Given the description of an element on the screen output the (x, y) to click on. 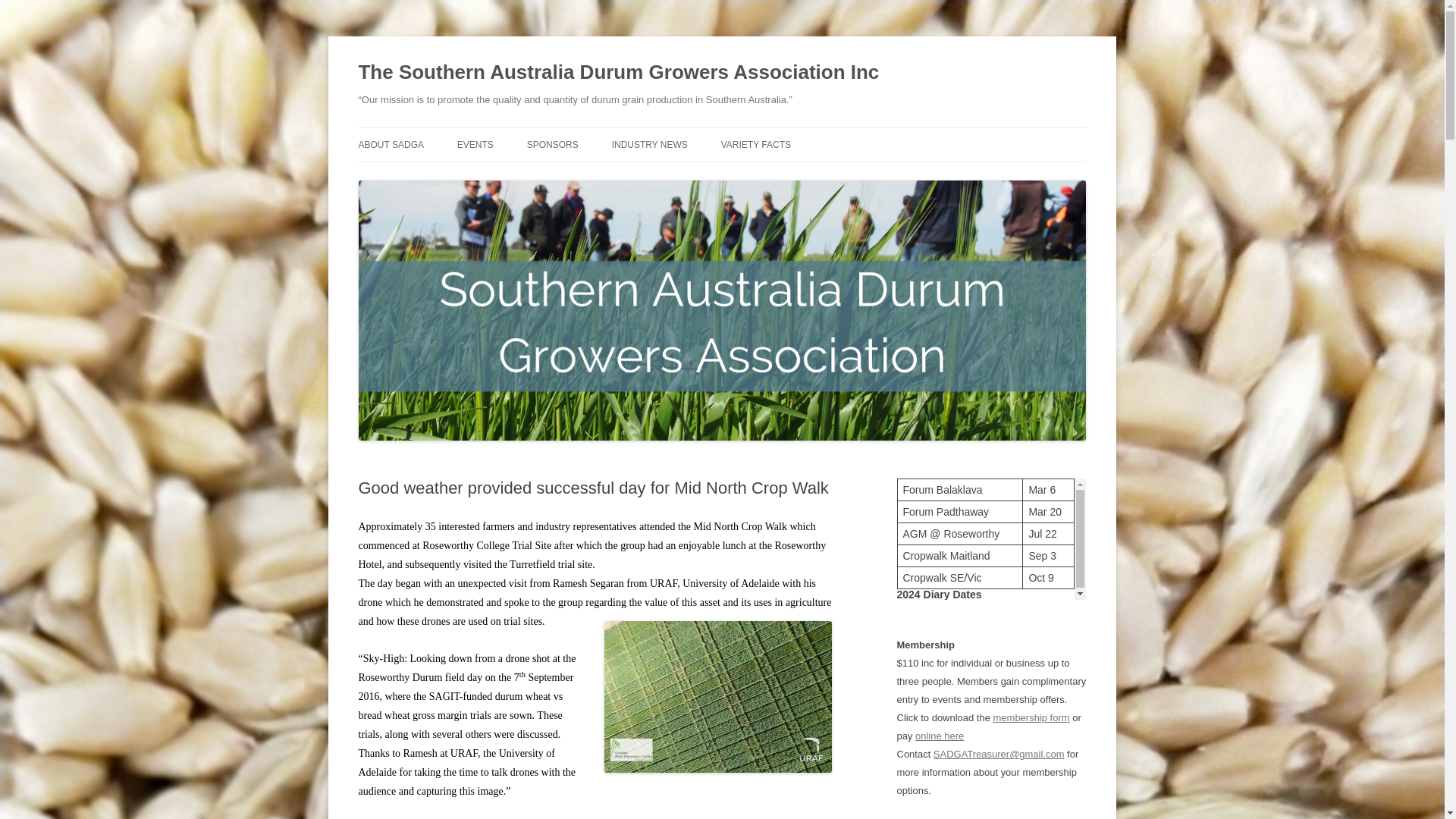
membership form (1031, 717)
INDUSTRY NEWS (649, 144)
COMMITTEE MEMBERS (433, 176)
SPONSORS (552, 144)
EVENTS DIARY (532, 176)
GROWING A SUCCESSFUL DURUM CROP (686, 185)
The Southern Australia Durum Growers Association Inc (618, 72)
The Southern Australia Durum Growers Association Inc (618, 72)
ABOUT SADGA (390, 144)
EVENTS (475, 144)
VARIETY FACTS (755, 144)
online here (939, 736)
